Given the description of an element on the screen output the (x, y) to click on. 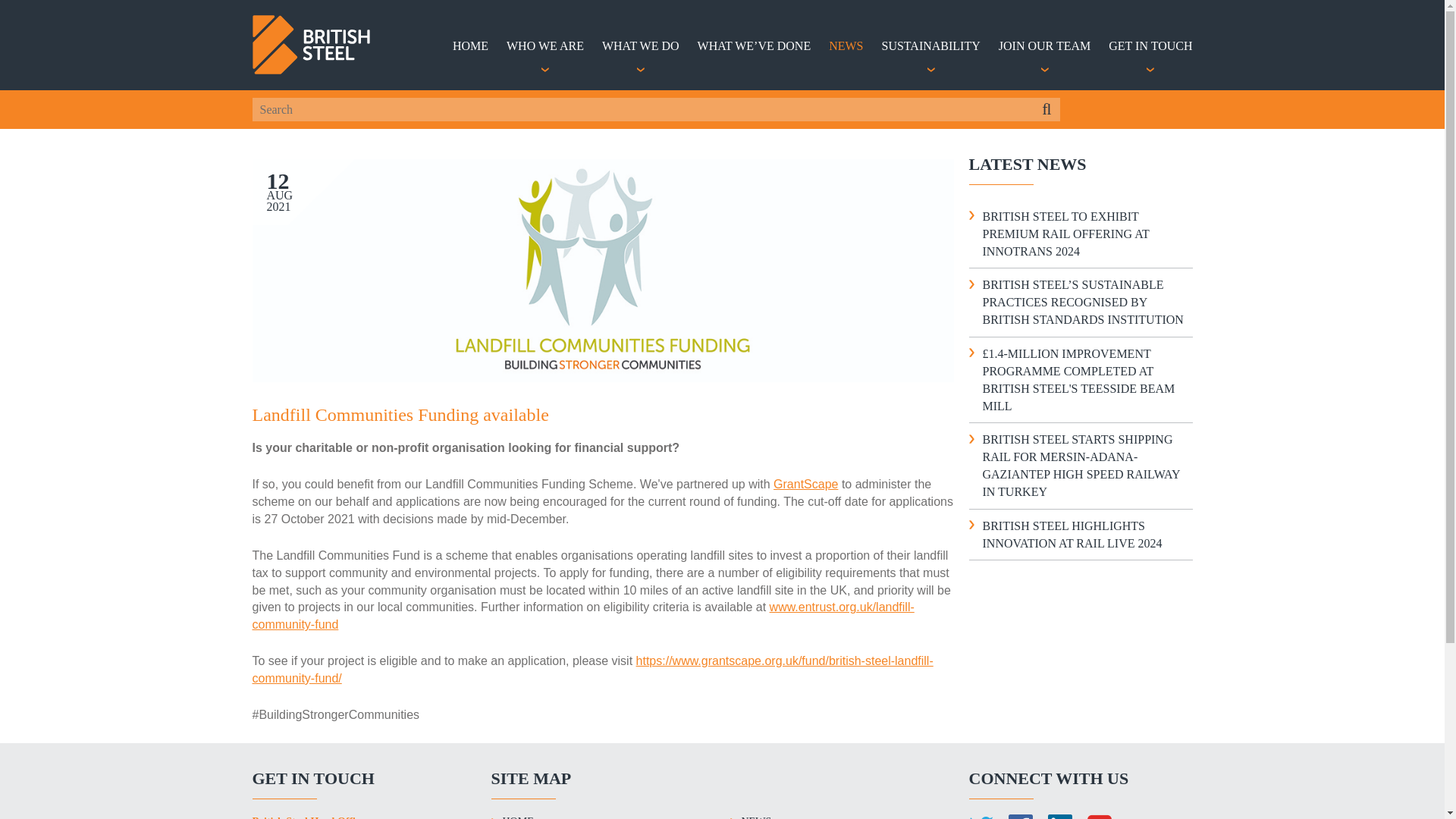
WHAT WE DO (640, 64)
SUSTAINABILITY (929, 64)
HOME (469, 64)
GET IN TOUCH (1150, 64)
GrantScape (805, 483)
JOIN OUR TEAM (1044, 64)
WHO WE ARE (544, 64)
NEWS (845, 64)
